Given the description of an element on the screen output the (x, y) to click on. 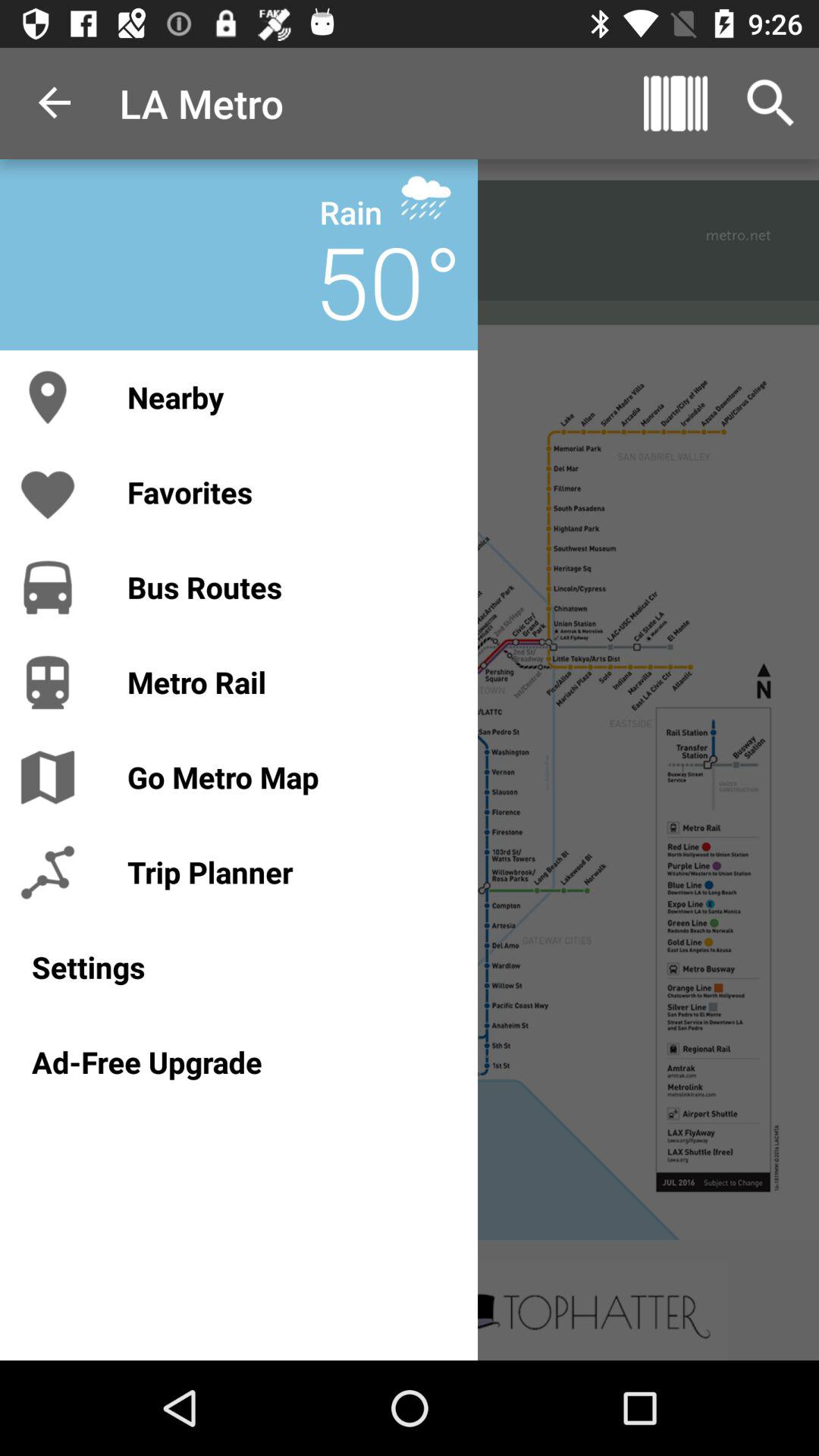
choose bus routes item (286, 587)
